Given the description of an element on the screen output the (x, y) to click on. 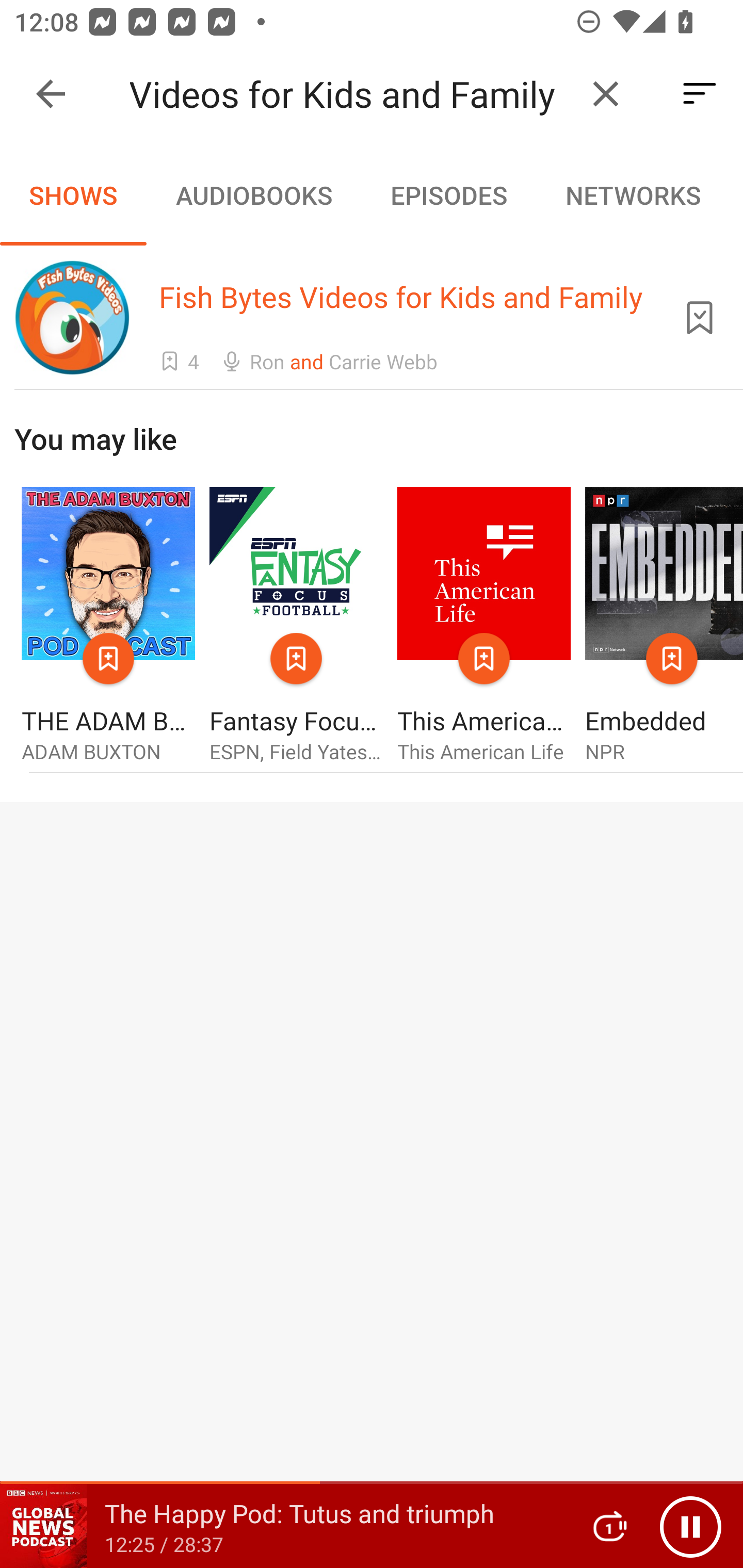
Collapse (50, 93)
Clear query (605, 93)
Sort By (699, 93)
Fish Bytes Videos for Kids and Family (349, 94)
SHOWS (73, 195)
AUDIOBOOKS (253, 195)
EPISODES (448, 195)
NETWORKS (632, 195)
Unsubscribe (699, 317)
THE ADAM BUXTON PODCAST ADAM BUXTON (107, 626)
This American Life (483, 626)
Embedded NPR (664, 626)
The Happy Pod: Tutus and triumph 12:25 / 28:37 (283, 1525)
Pause (690, 1526)
